Given the description of an element on the screen output the (x, y) to click on. 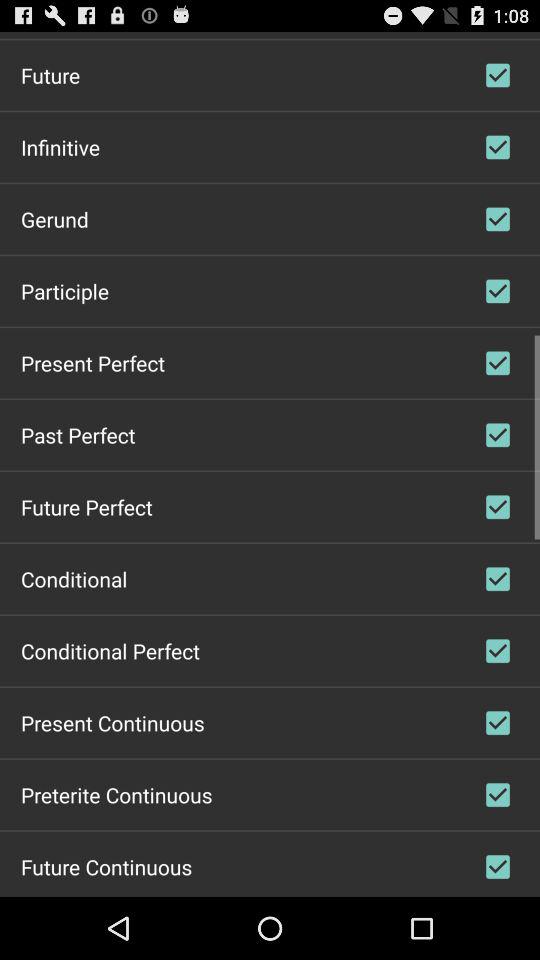
jump to the future continuous item (106, 866)
